Given the description of an element on the screen output the (x, y) to click on. 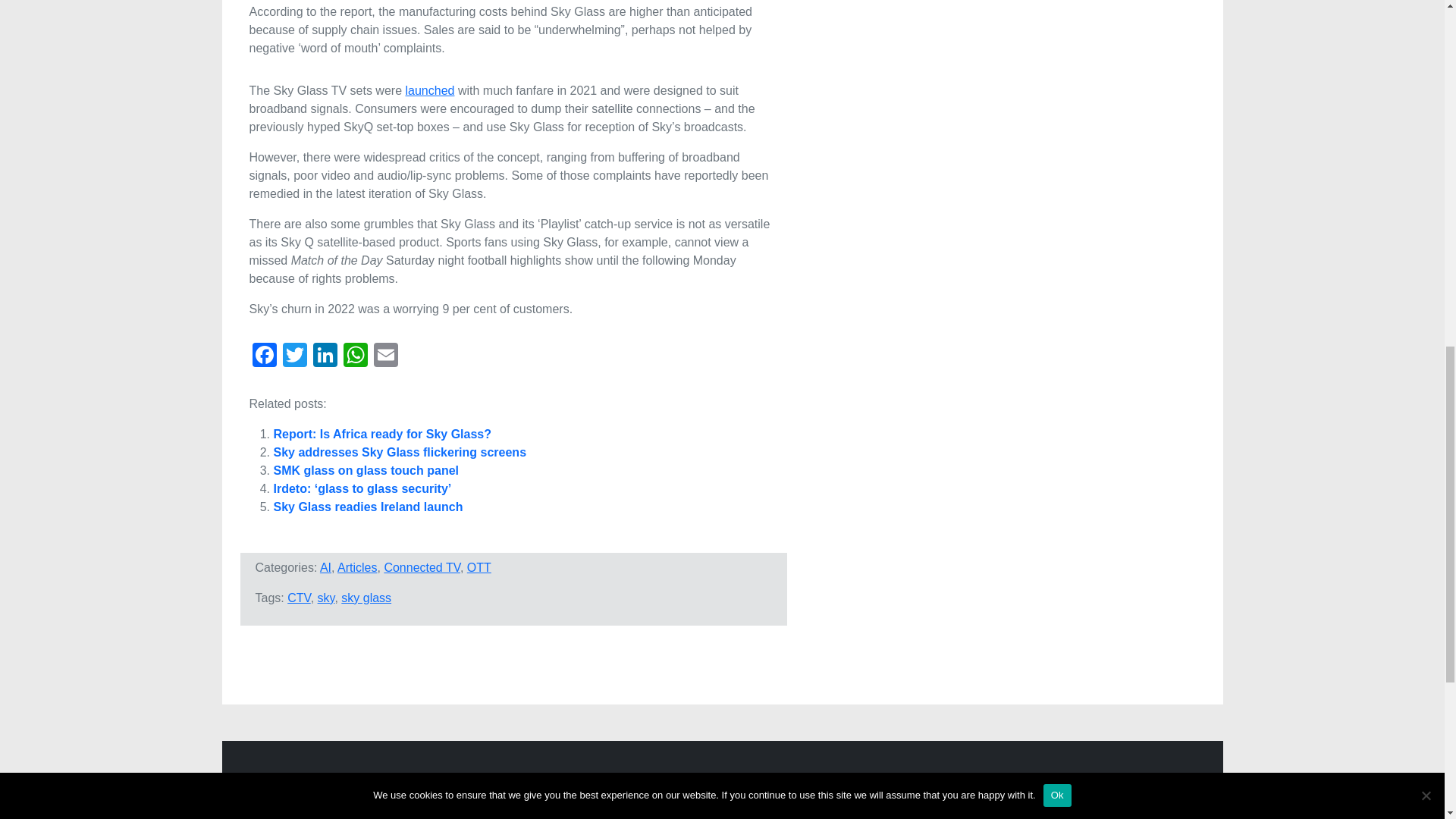
Sky Glass readies Ireland launch (368, 506)
Connected TV (422, 567)
Twitter (293, 357)
WhatsApp (354, 357)
Facebook (263, 357)
sky (325, 597)
SMK glass on glass touch panel (365, 470)
launched (429, 90)
CTV (298, 597)
Report: Is Africa ready for Sky Glass? (382, 433)
Facebook (263, 357)
SMK glass on glass touch panel (365, 470)
WhatsApp (354, 357)
Sky addresses Sky Glass flickering screens (399, 451)
Articles (357, 567)
